Given the description of an element on the screen output the (x, y) to click on. 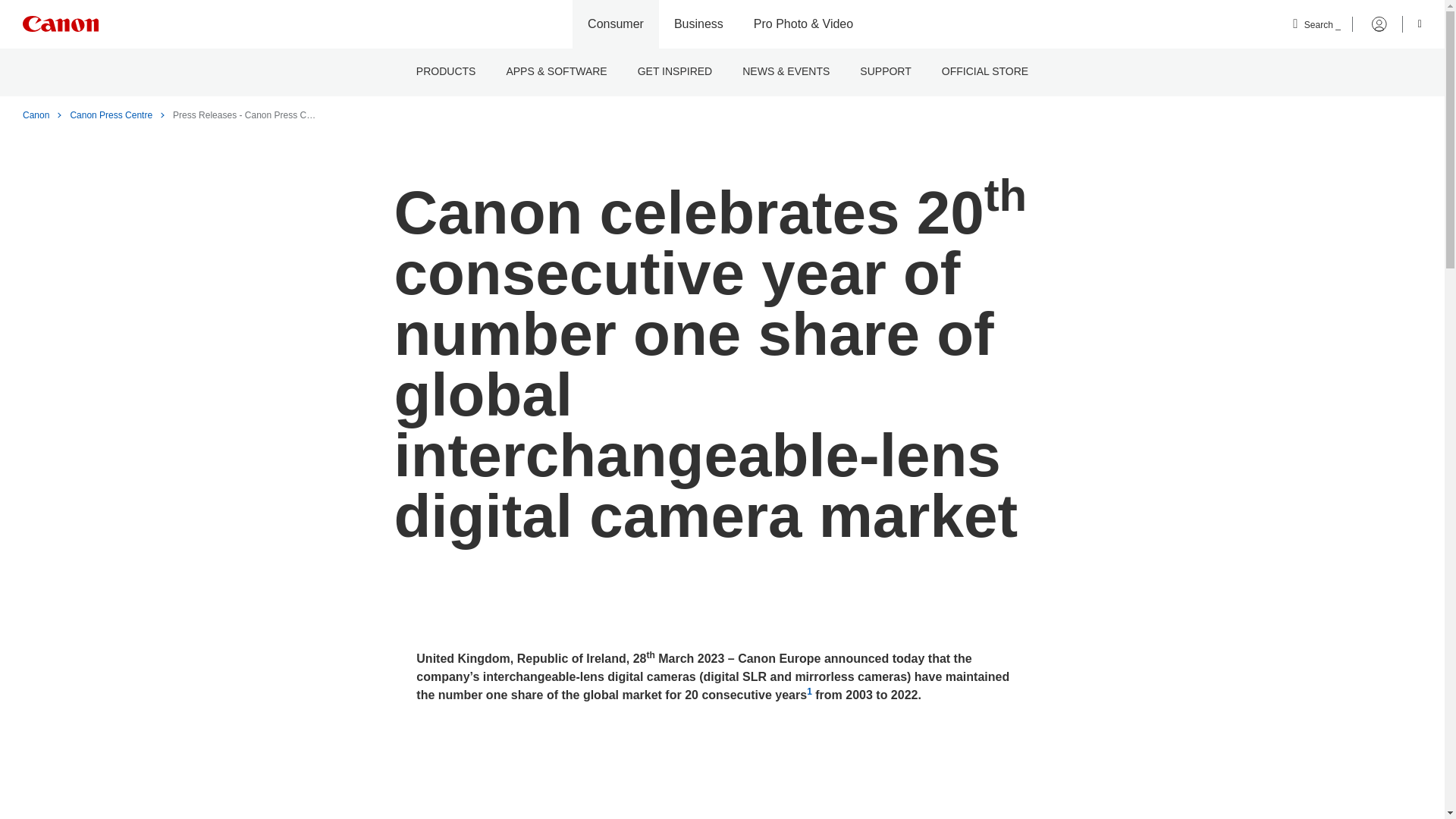
PRODUCTS (446, 72)
Business (698, 24)
Canon account (1369, 23)
Consumer (615, 24)
Canon Logo, back to home page (61, 23)
